Given the description of an element on the screen output the (x, y) to click on. 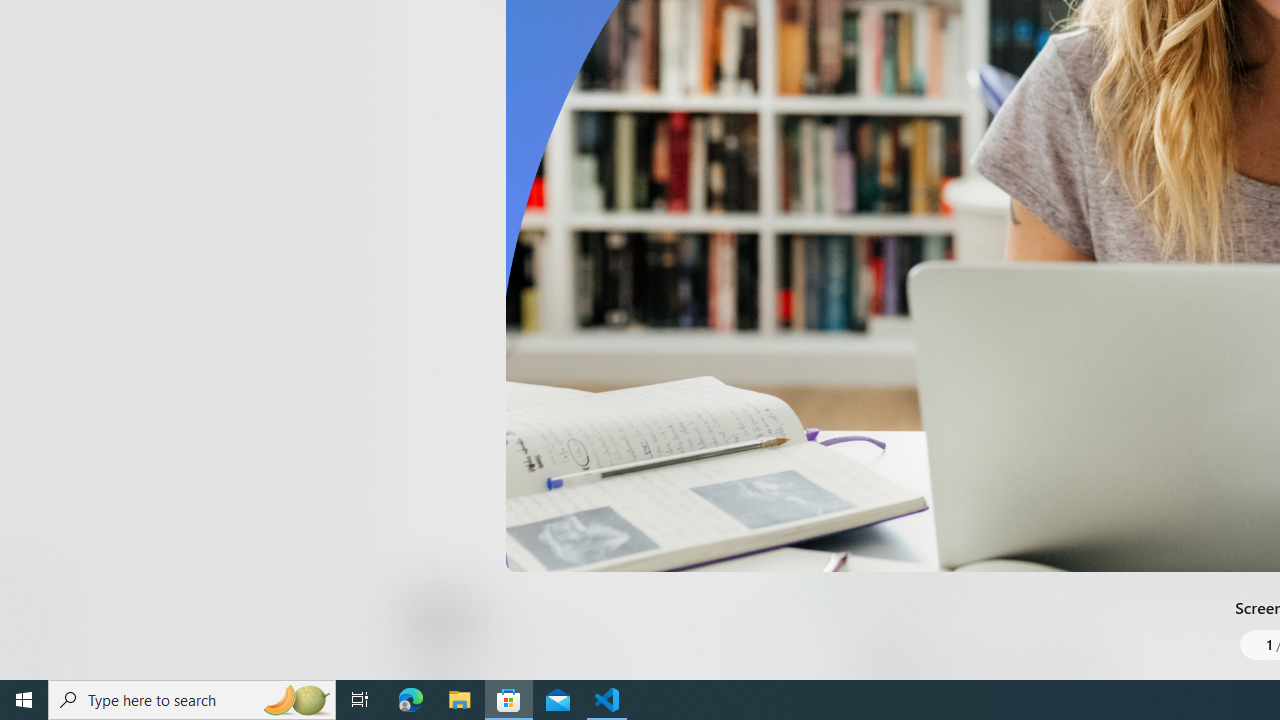
Show all ratings and reviews (838, 454)
Library (35, 640)
What's New (35, 578)
Age rating: TEEN. Click for more information. (488, 619)
Share (746, 632)
Show more (854, 31)
Social (579, 23)
